Given the description of an element on the screen output the (x, y) to click on. 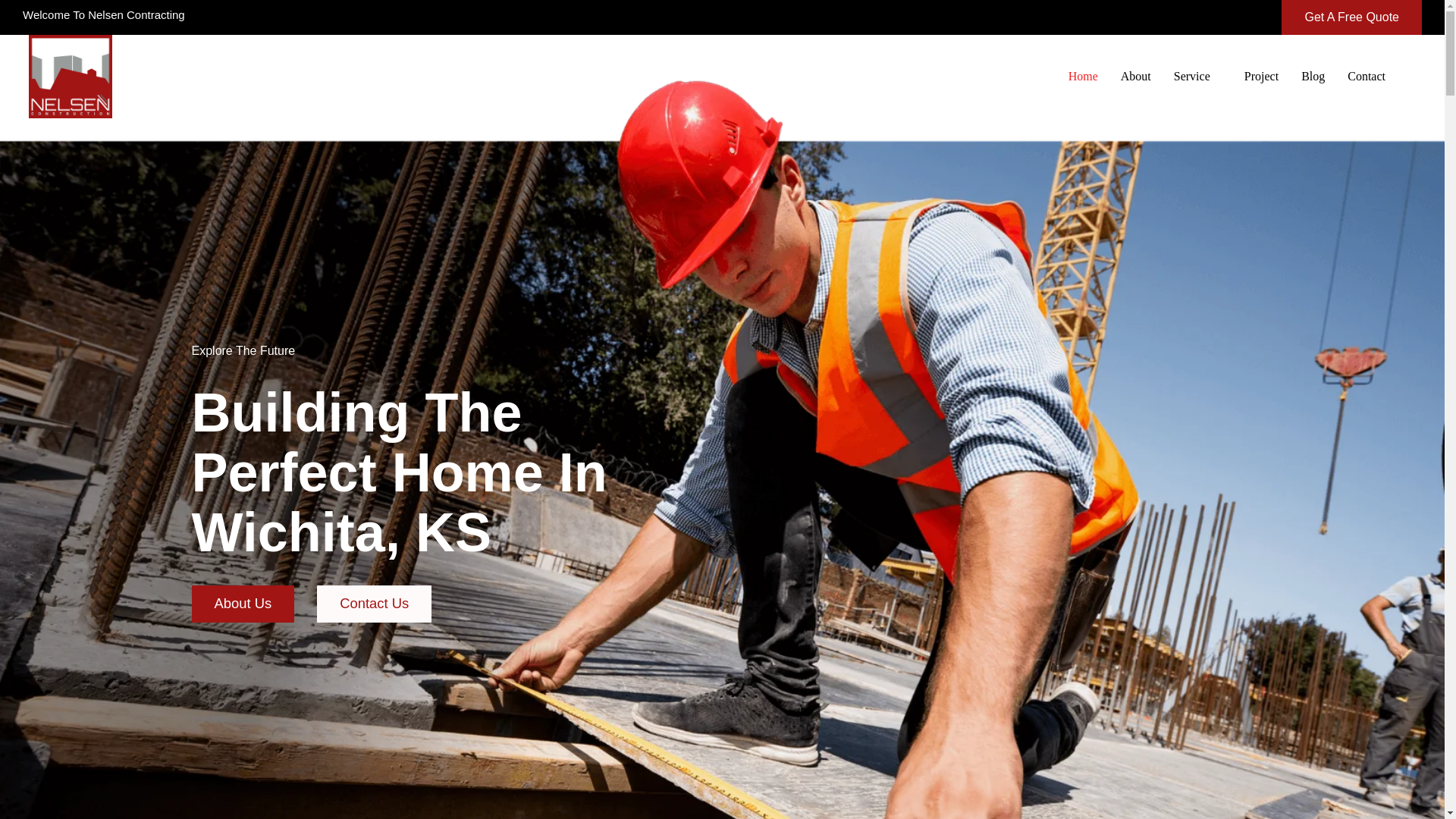
Project (1261, 75)
Contact (1366, 75)
Blog (1313, 75)
Service (1197, 75)
Get A Free Quote (1351, 17)
Home (1083, 75)
About (1135, 75)
